Given the description of an element on the screen output the (x, y) to click on. 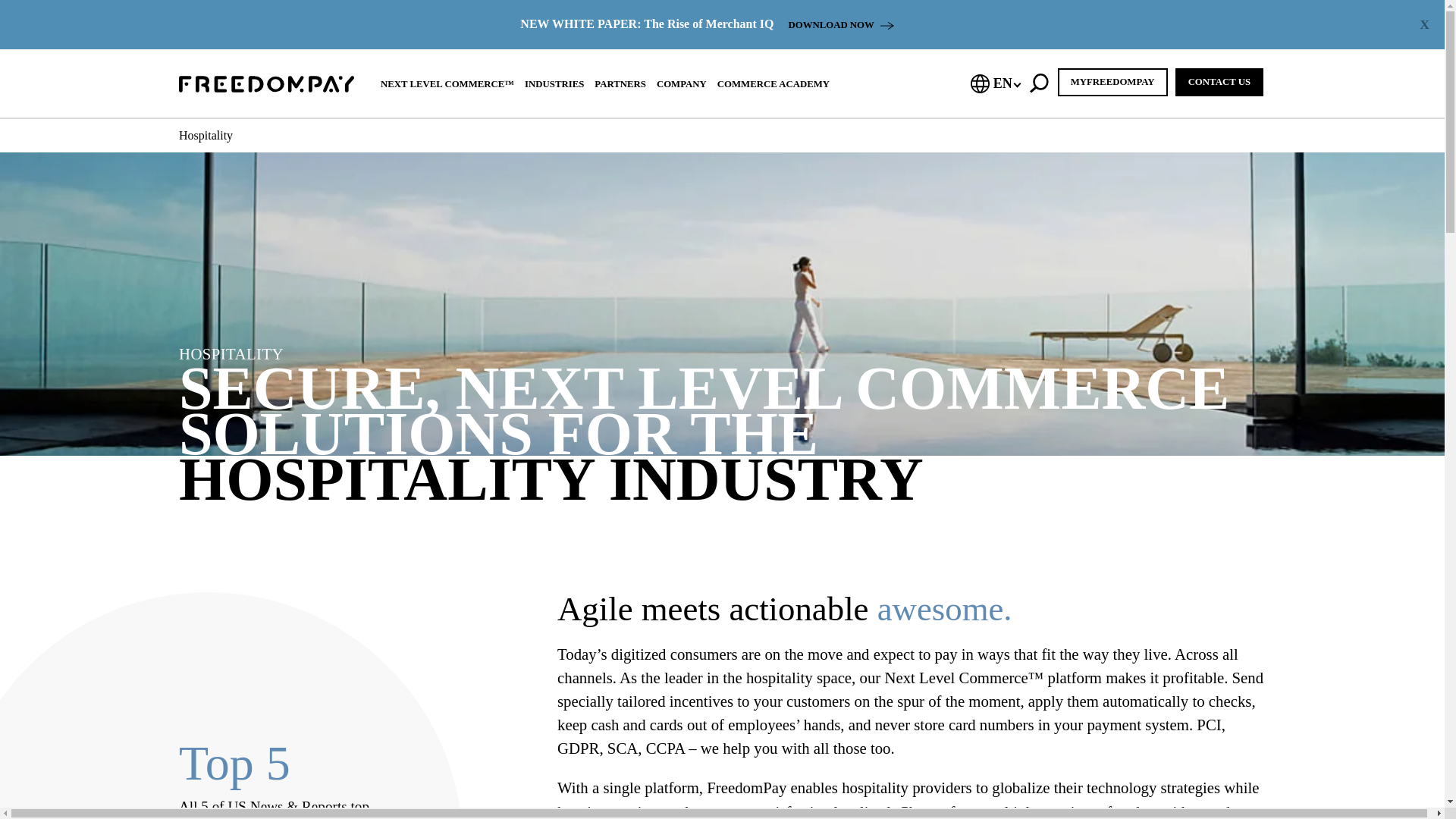
INDUSTRIES (553, 83)
COMMERCE ACADEMY (773, 83)
COMPANY (681, 83)
NEW WHITE PAPER: The Rise of Merchant IQ DOWNLOAD NOW (706, 24)
PARTNERS (620, 83)
